Given the description of an element on the screen output the (x, y) to click on. 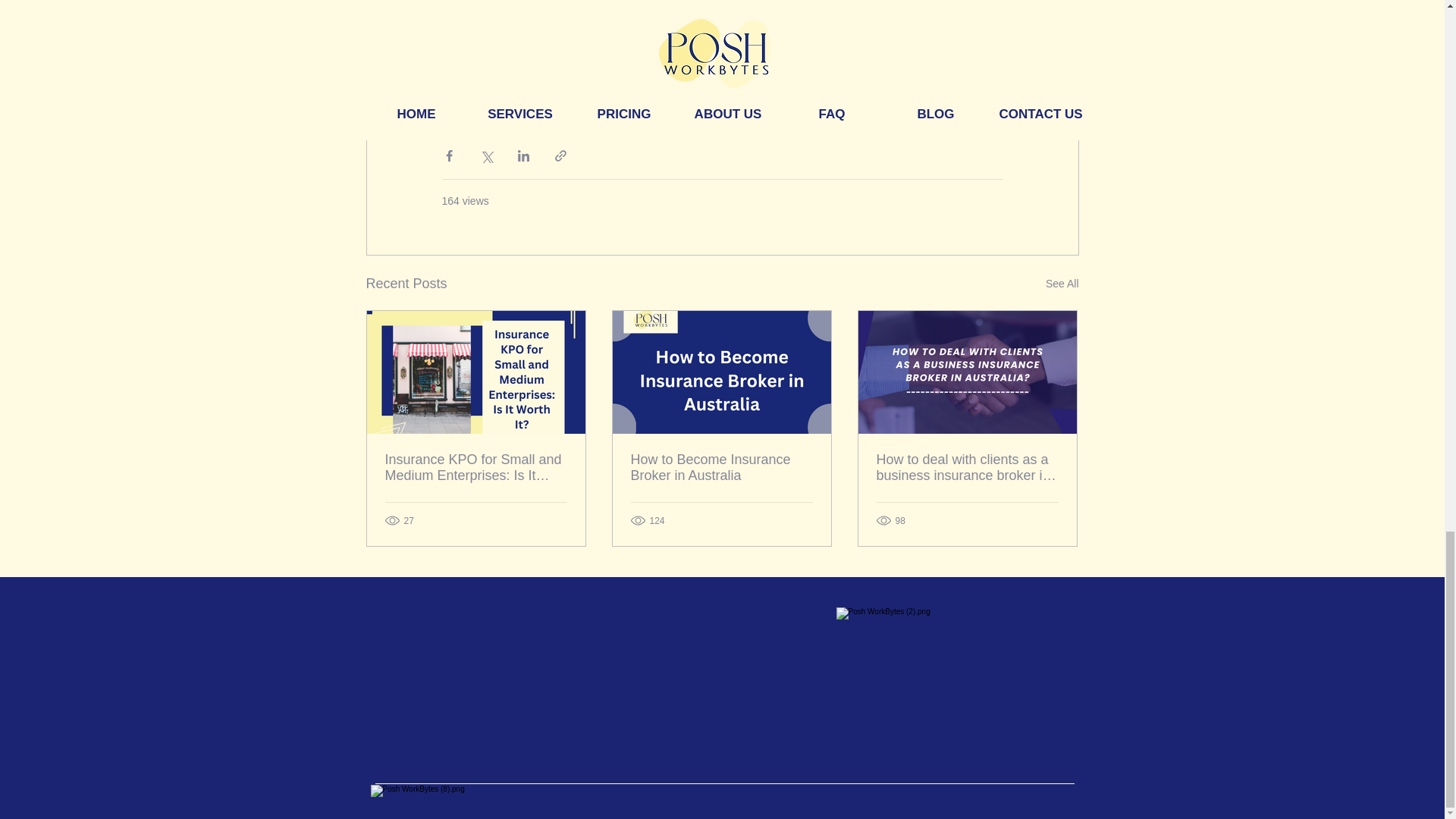
How to Become Insurance Broker in Australia (721, 468)
See All (1061, 283)
